Given the description of an element on the screen output the (x, y) to click on. 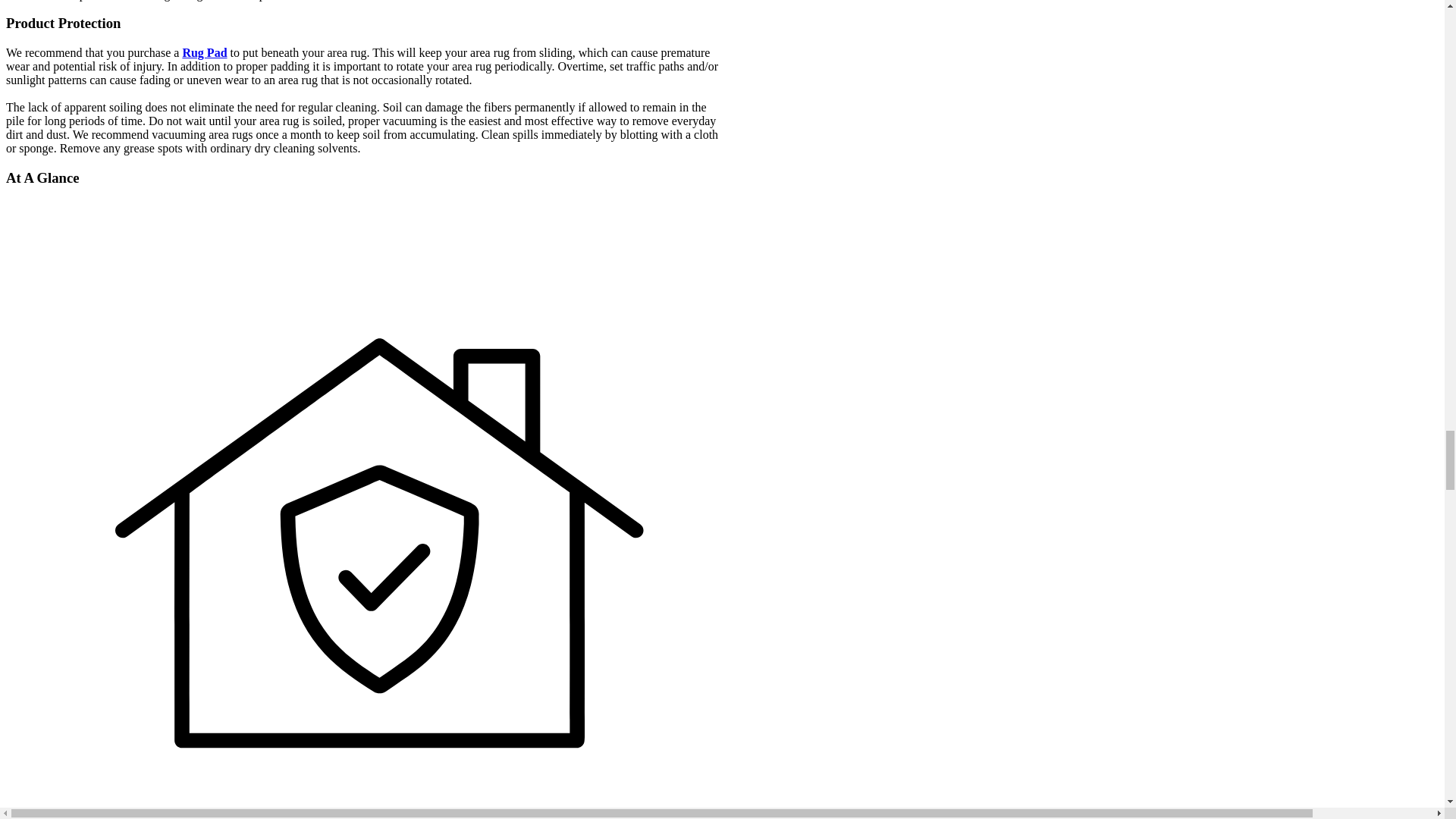
Rug Pad (204, 51)
